Given the description of an element on the screen output the (x, y) to click on. 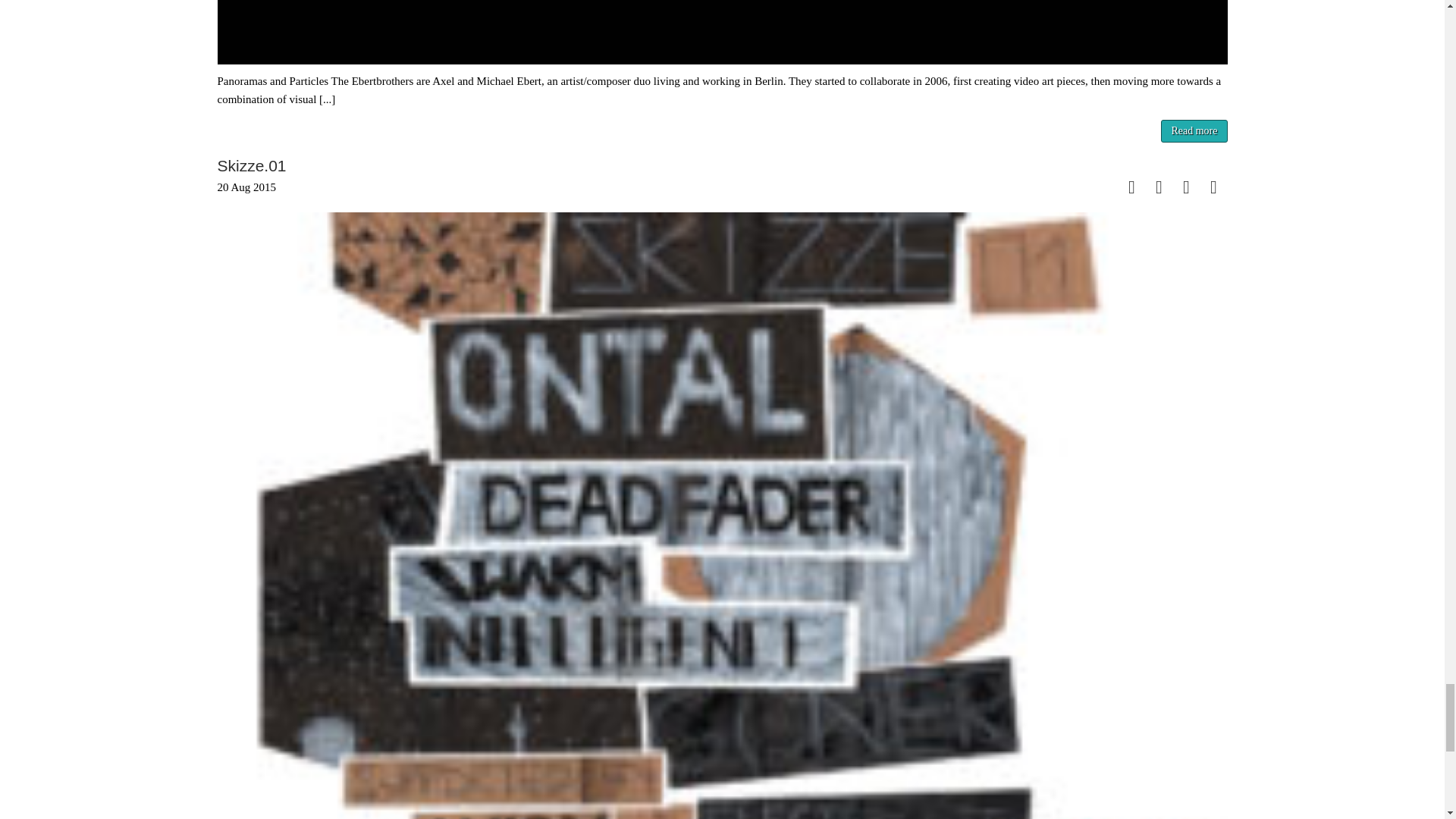
The Ebertbrothers - Susten Pass (721, 31)
